Given the description of an element on the screen output the (x, y) to click on. 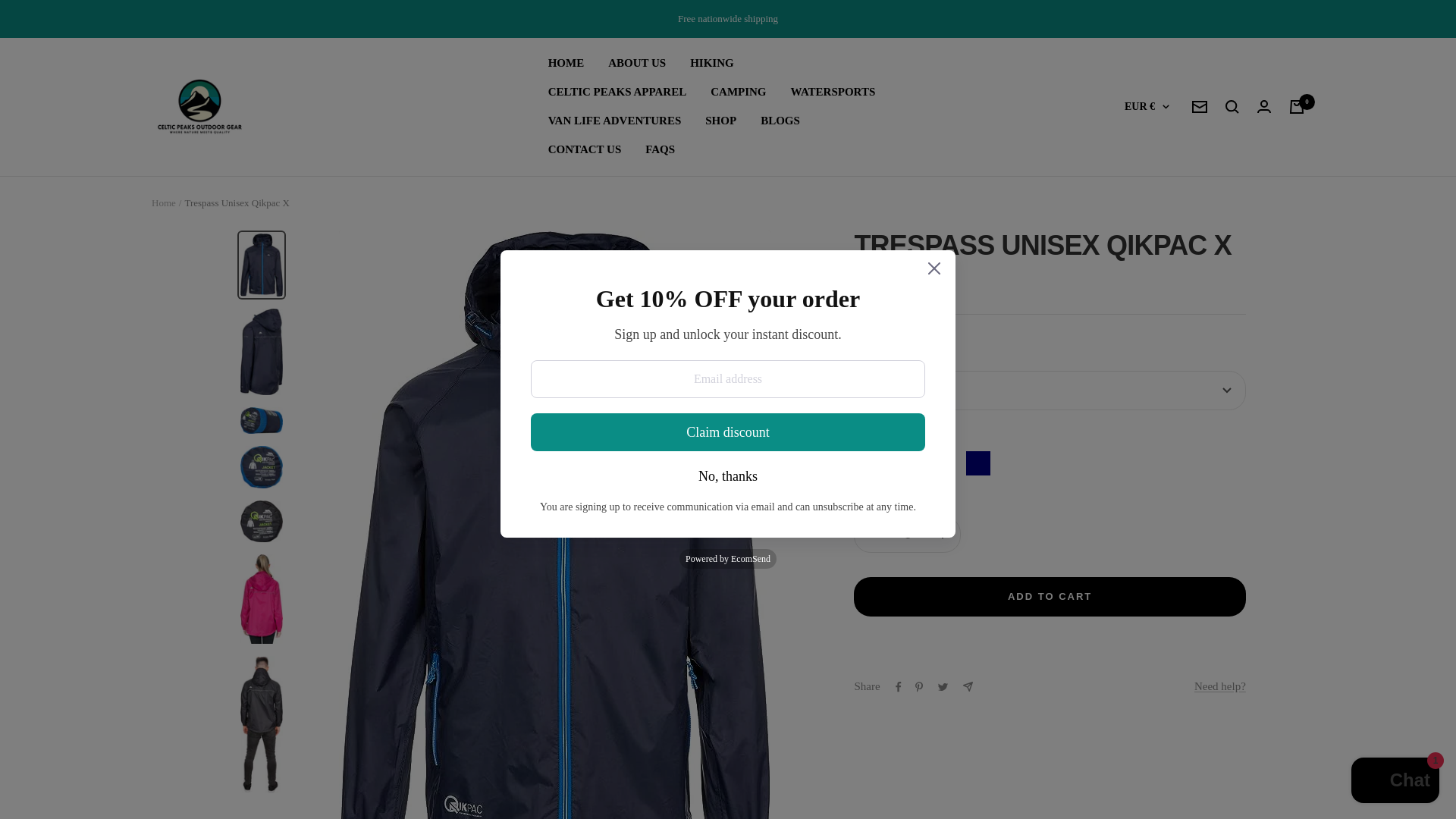
HKD (1131, 359)
PLN (1131, 509)
Newsletter (1199, 106)
SEK (1131, 534)
Home (163, 202)
KRW (1131, 434)
Celtic Peaks Outdoor Gear (200, 106)
Shopify online store chat (1395, 781)
AED (1131, 158)
0 (1296, 106)
HOME (566, 63)
BLOGS (779, 121)
VAN LIFE ADVENTURES (614, 121)
